Given the description of an element on the screen output the (x, y) to click on. 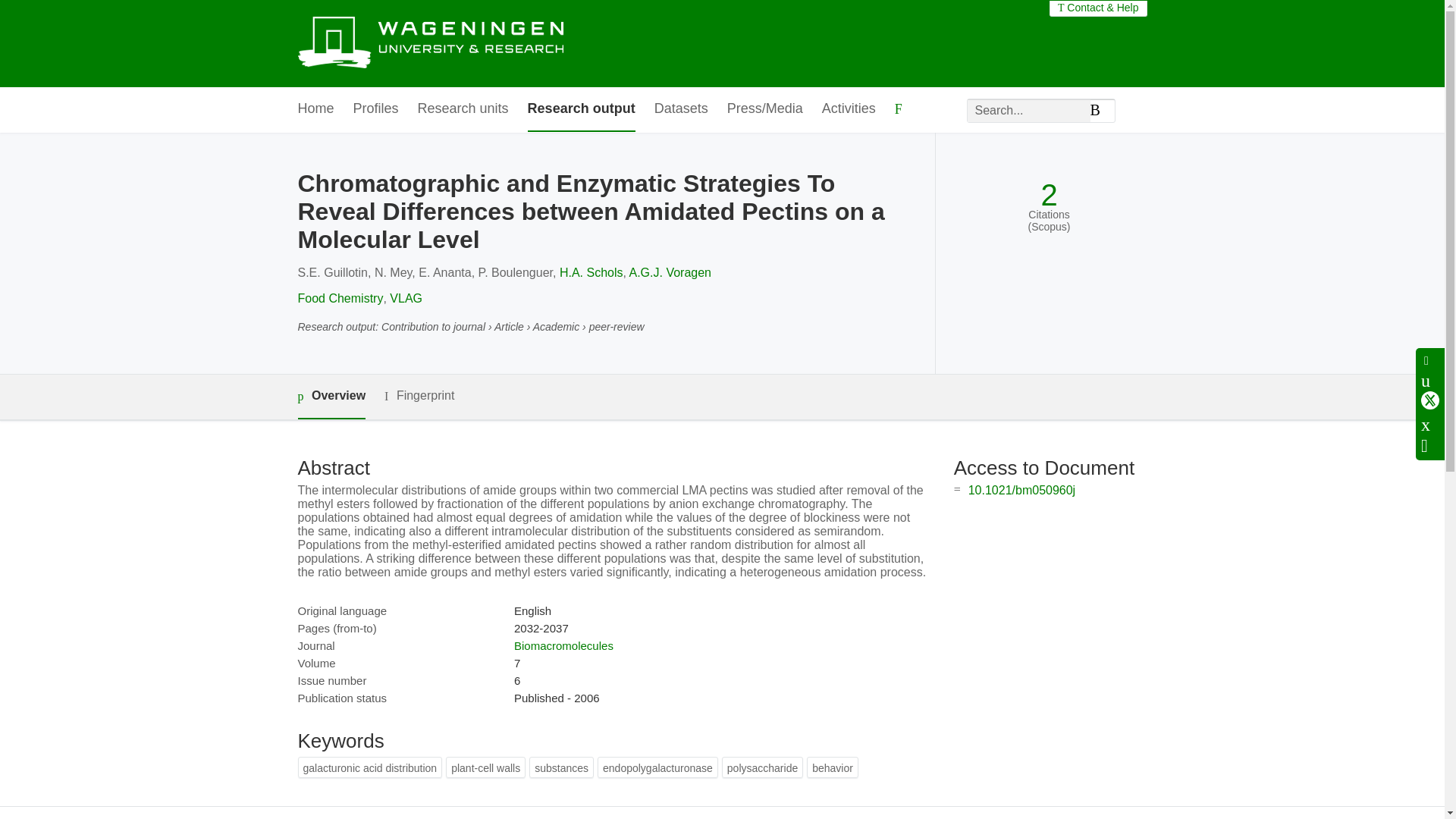
Research units (462, 108)
Biomacromolecules (562, 645)
H.A. Schols (591, 272)
Overview (331, 396)
Activities (849, 108)
Datasets (680, 108)
Fingerprint (419, 395)
VLAG (406, 297)
Food Chemistry (339, 297)
